Given the description of an element on the screen output the (x, y) to click on. 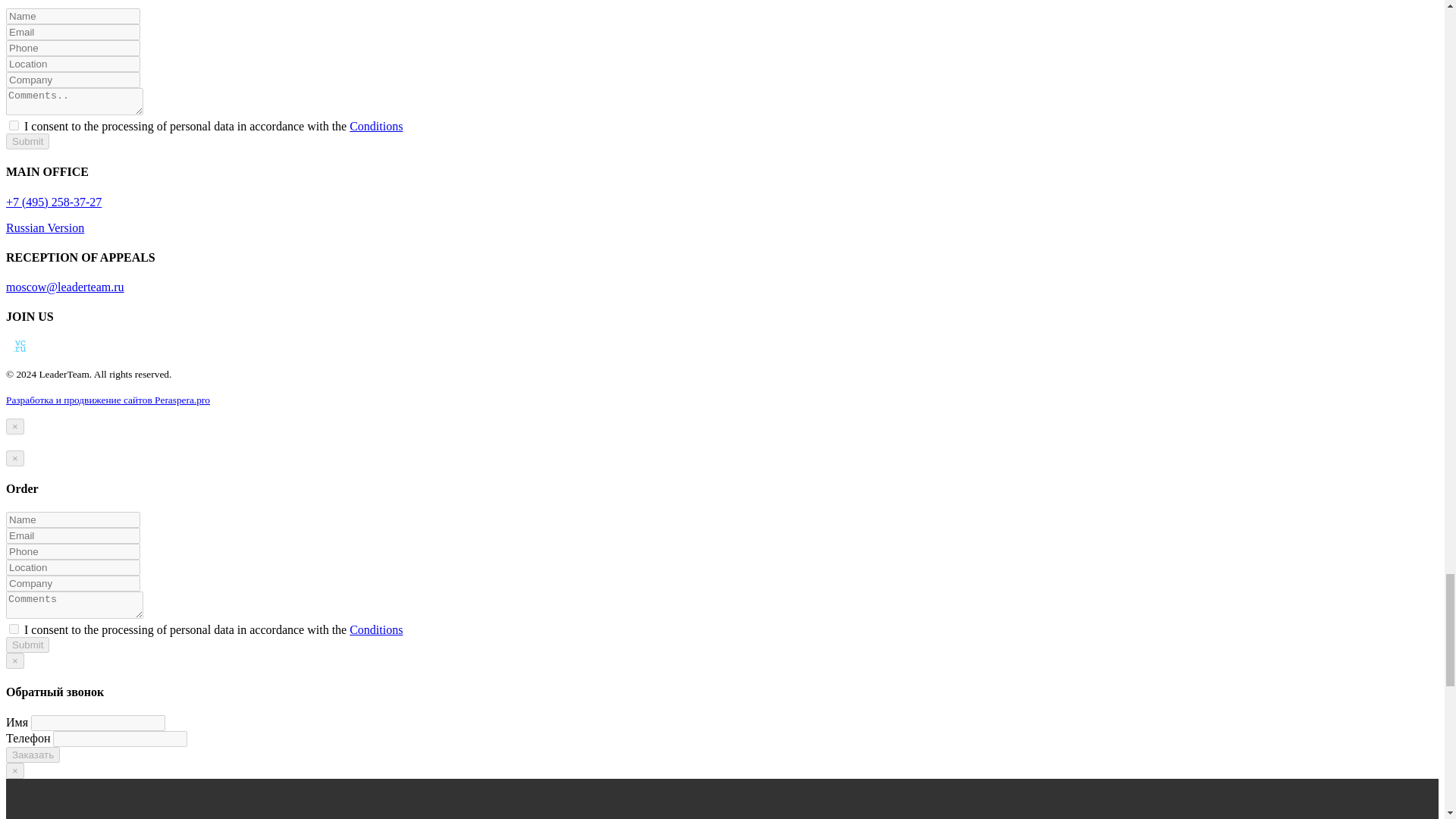
1 (13, 628)
1 (13, 125)
